Given the description of an element on the screen output the (x, y) to click on. 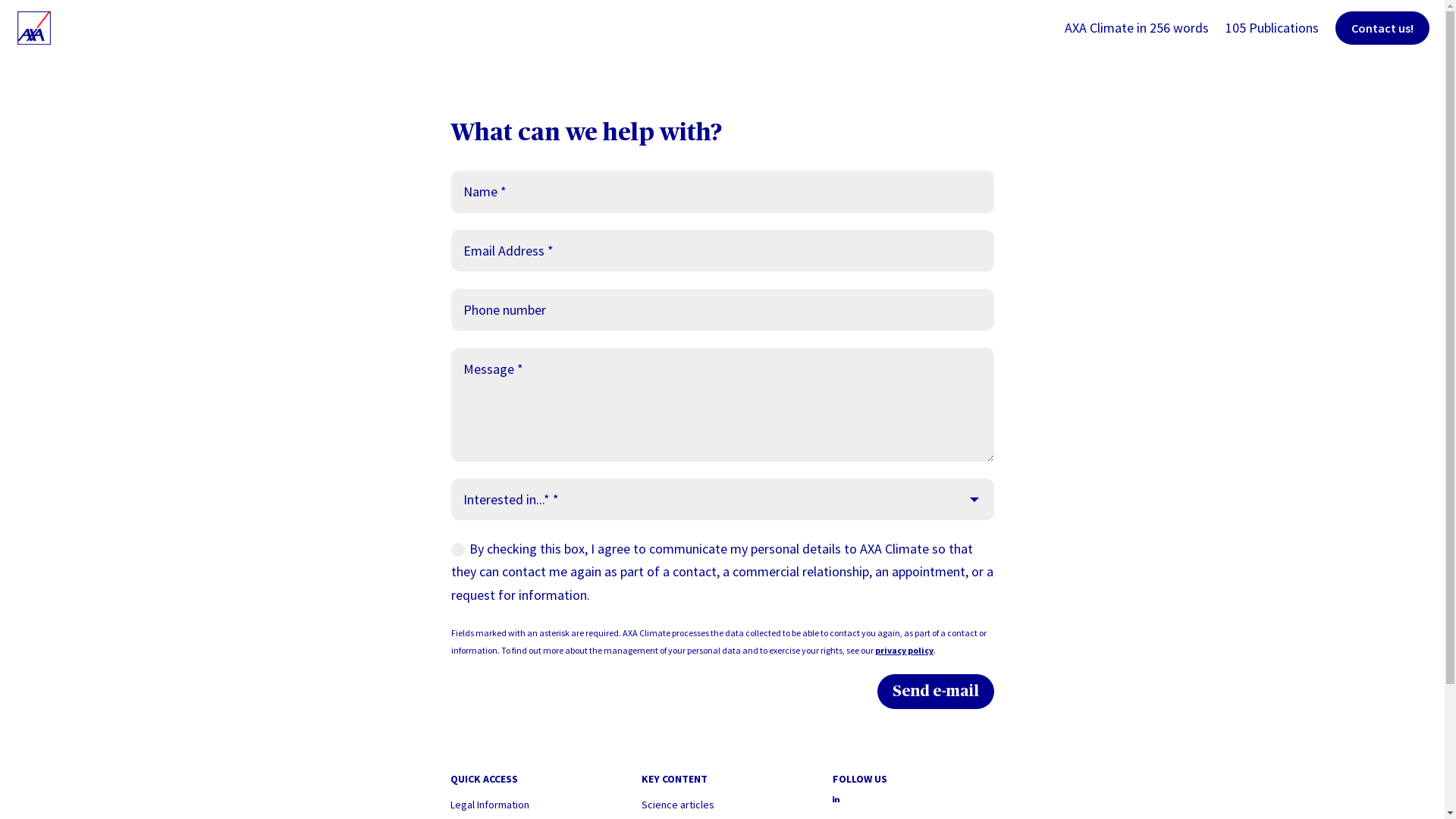
Contact us! Element type: text (1382, 27)
linkedin-svgrepo-com Element type: hover (835, 799)
105 Publications Element type: text (1271, 39)
Send e-mail Element type: text (935, 691)
AXA Climate in 256 words Element type: text (1136, 39)
Legal Information Element type: text (489, 804)
privacy policy Element type: text (904, 649)
Science articles Element type: text (677, 804)
